Given the description of an element on the screen output the (x, y) to click on. 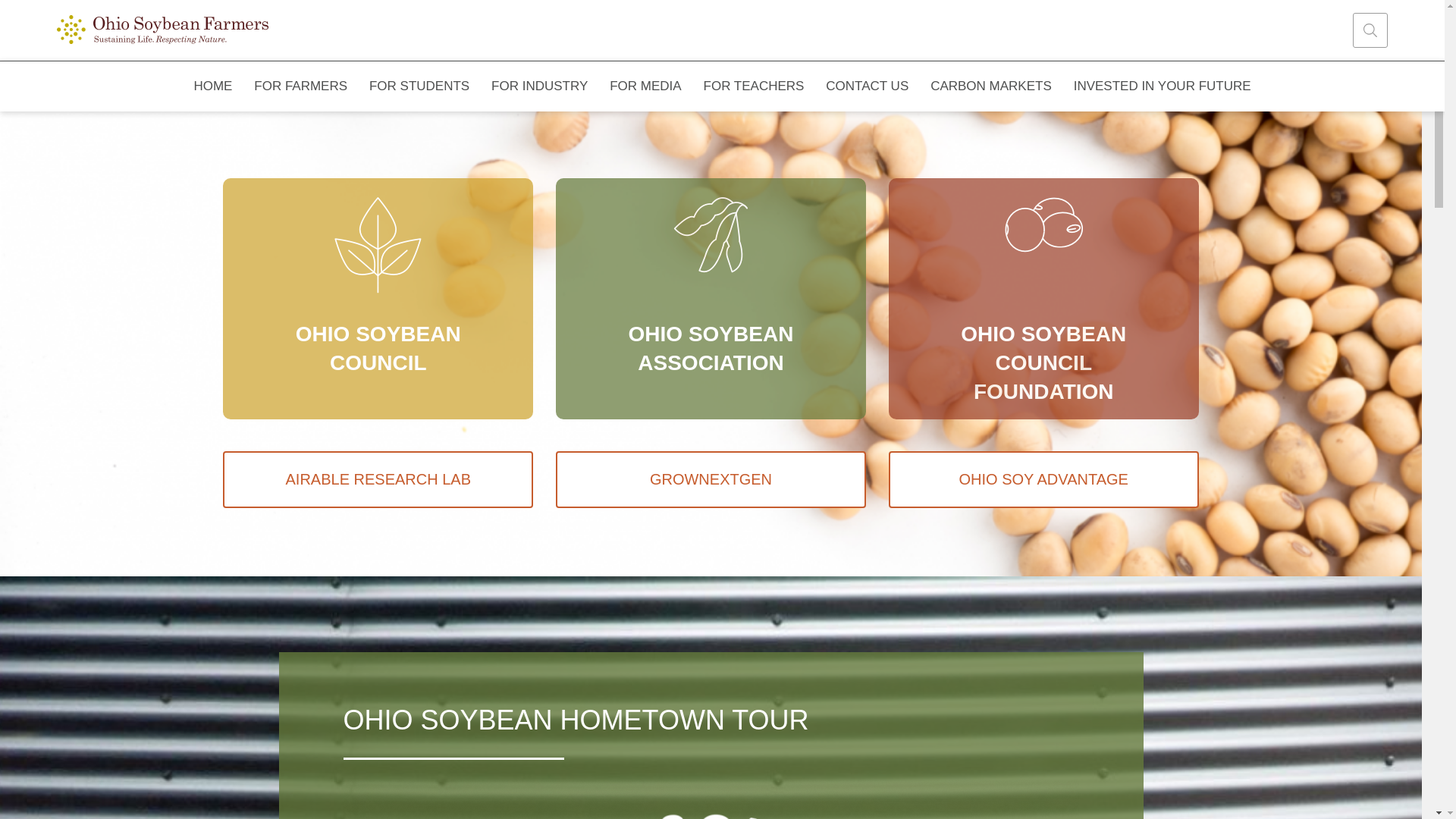
FOR FARMERS (300, 86)
FOR TEACHERS (753, 86)
HOME (213, 86)
FOR INDUSTRY (539, 86)
FOR STUDENTS (418, 86)
INVESTED IN YOUR FUTURE (1161, 86)
CARBON MARKETS (991, 86)
CONTACT US (867, 86)
FOR MEDIA (645, 86)
